Given the description of an element on the screen output the (x, y) to click on. 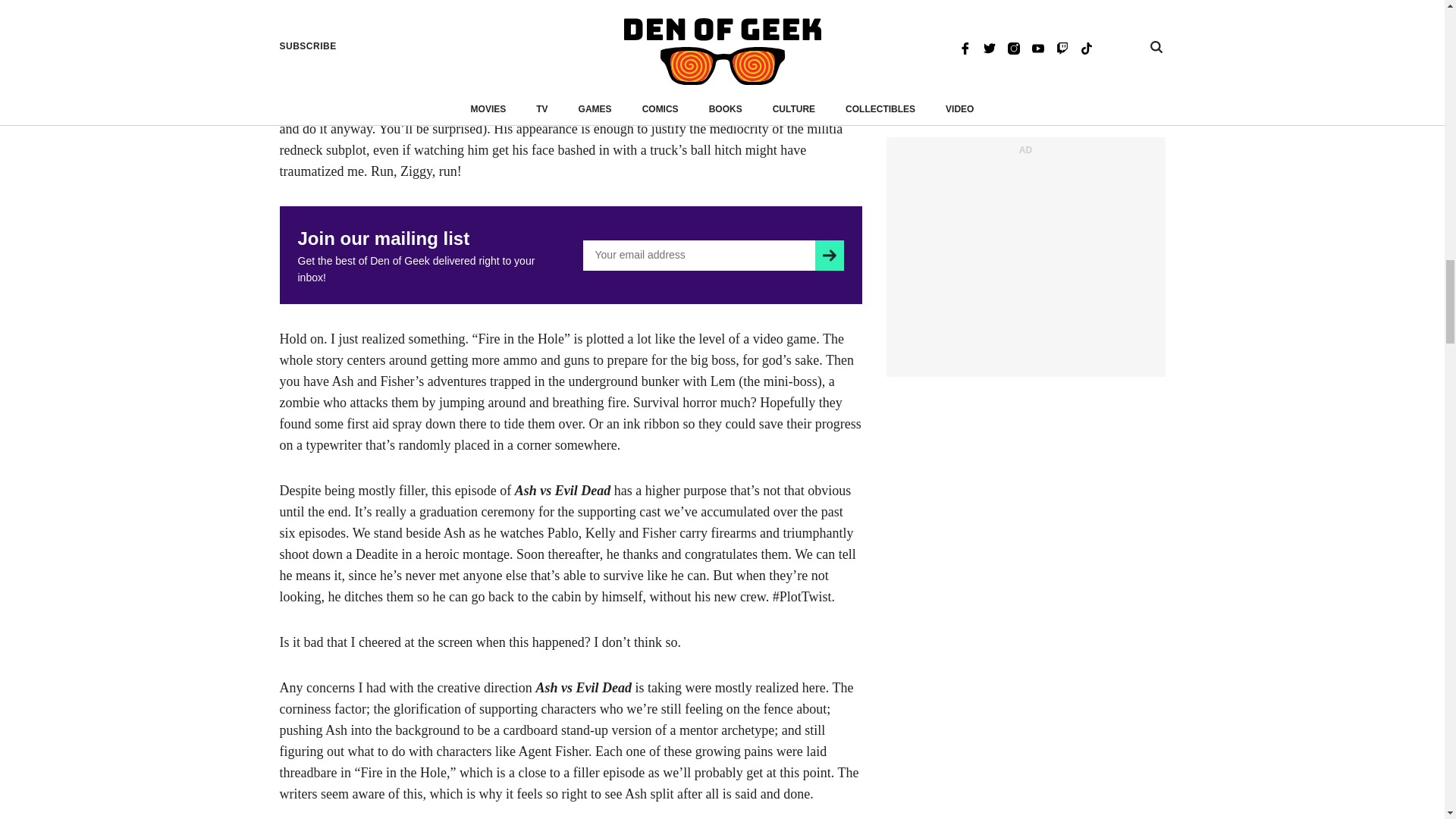
Subscribe (829, 255)
